Given the description of an element on the screen output the (x, y) to click on. 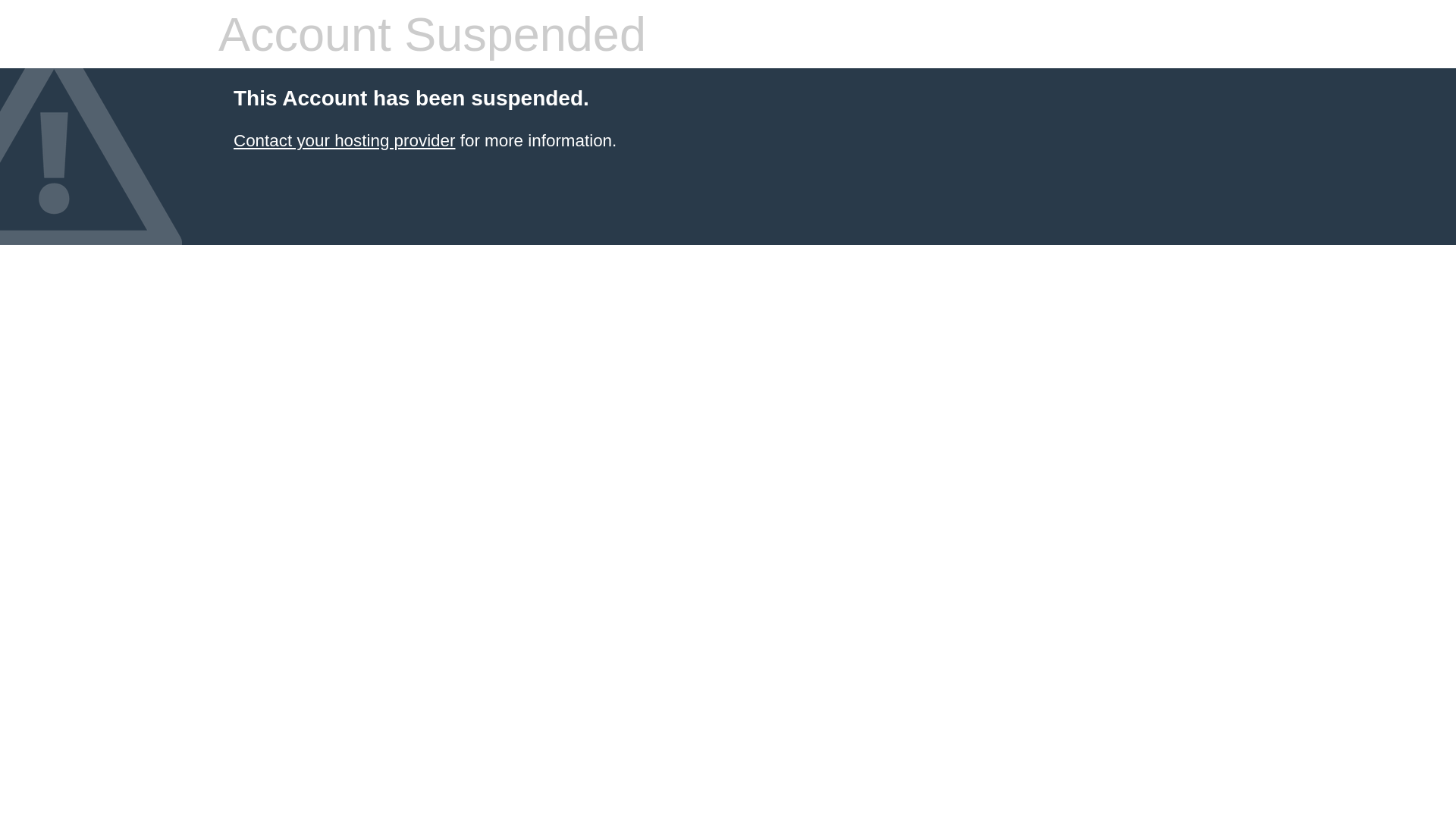
Contact your hosting provider Element type: text (344, 140)
